Given the description of an element on the screen output the (x, y) to click on. 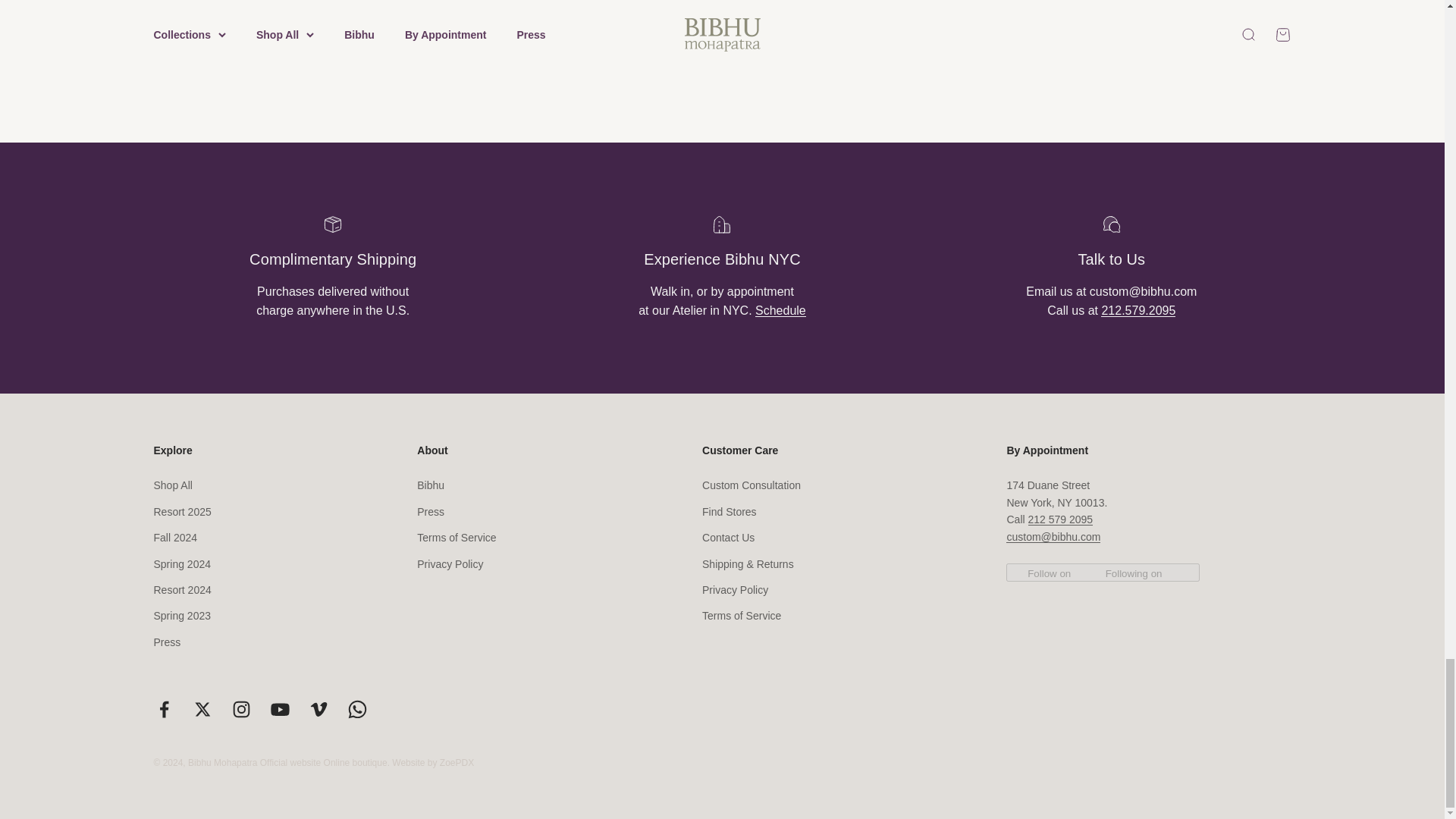
tel:2125792095 (1060, 519)
tel: 2125792095 (1137, 309)
